Given the description of an element on the screen output the (x, y) to click on. 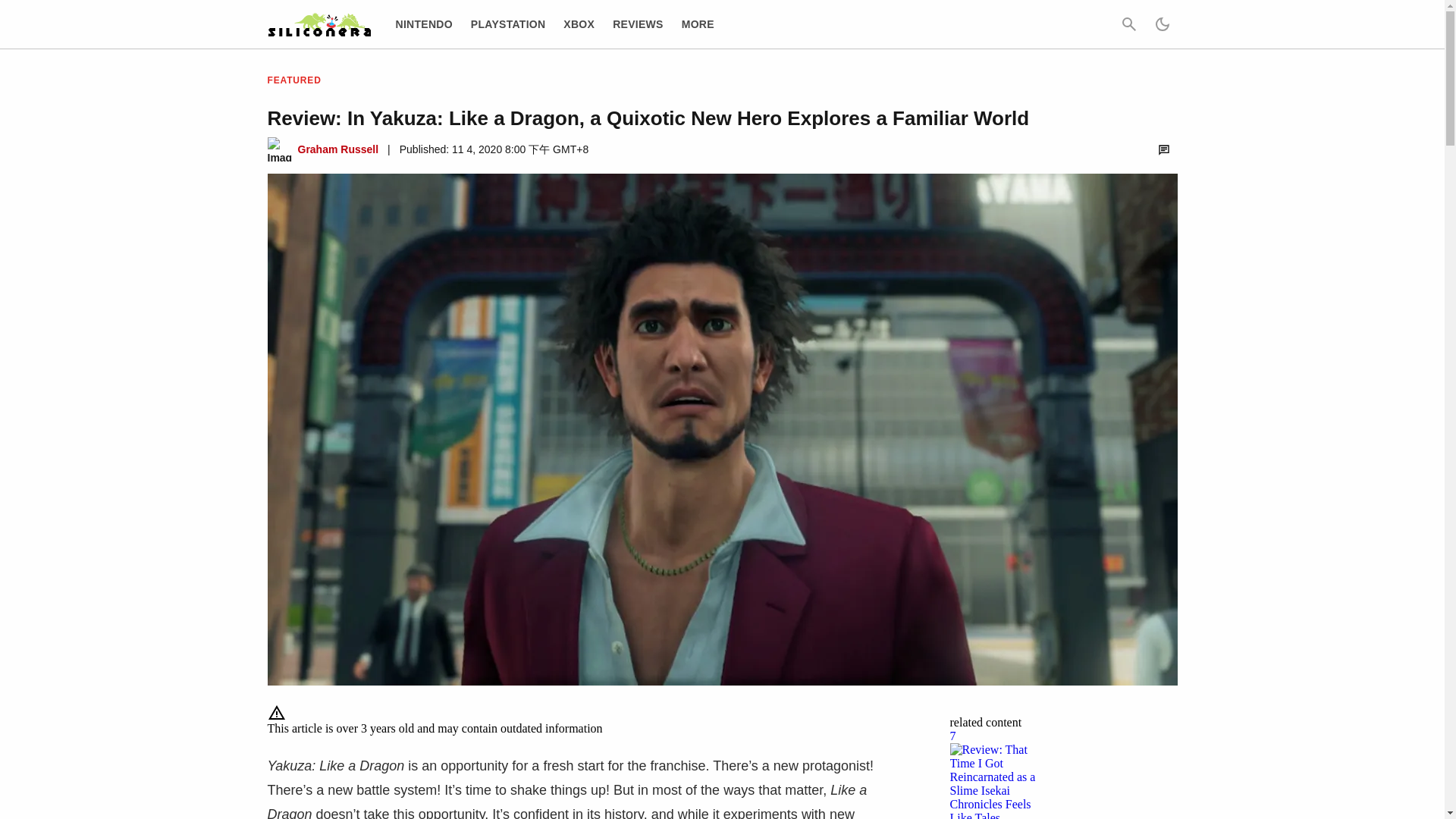
Search (1127, 24)
XBOX (578, 24)
Dark Mode (1161, 24)
REVIEWS (637, 24)
NINTENDO (424, 24)
PLAYSTATION (508, 24)
